Given the description of an element on the screen output the (x, y) to click on. 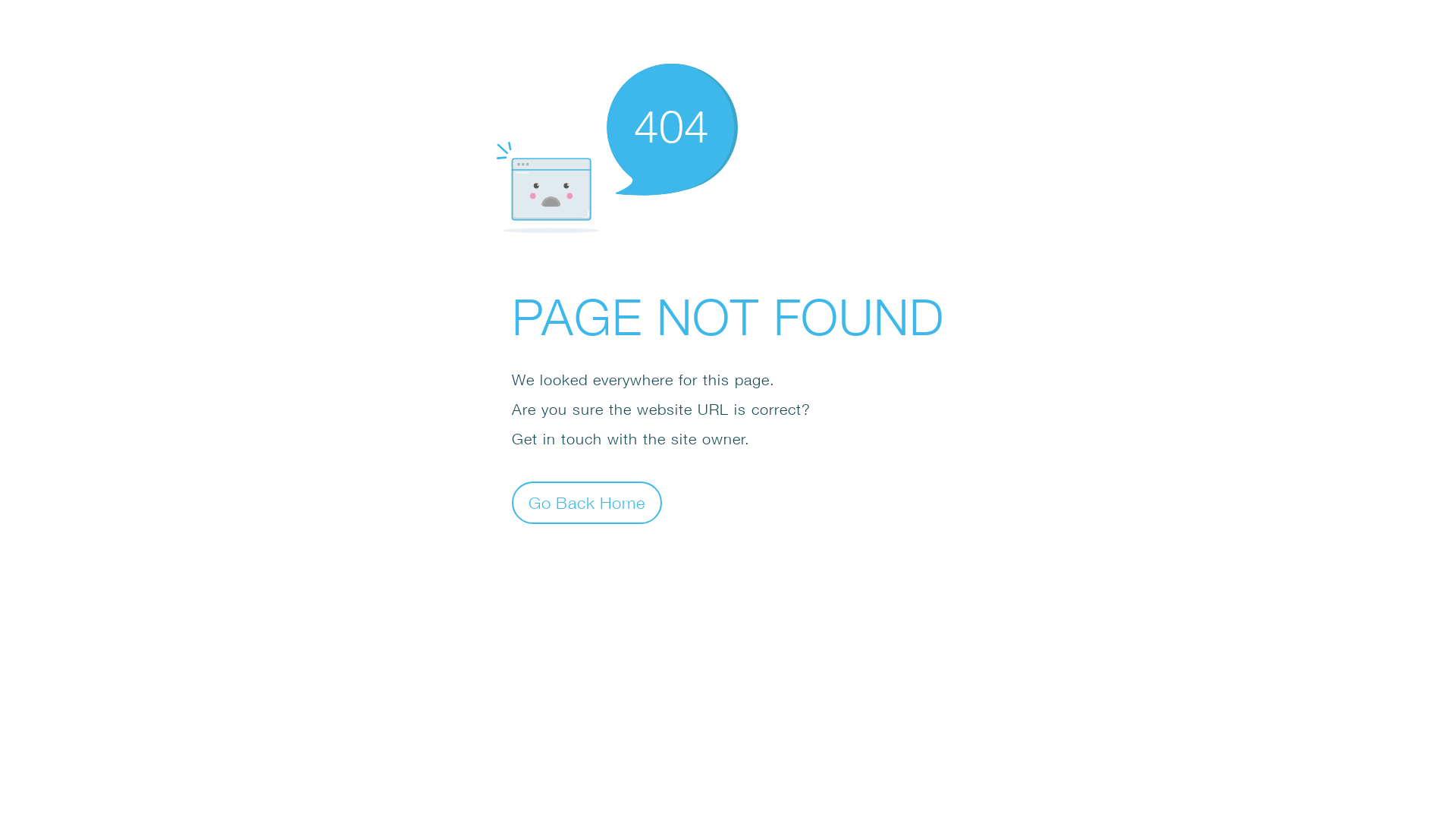
Go Back Home Element type: text (586, 502)
